Given the description of an element on the screen output the (x, y) to click on. 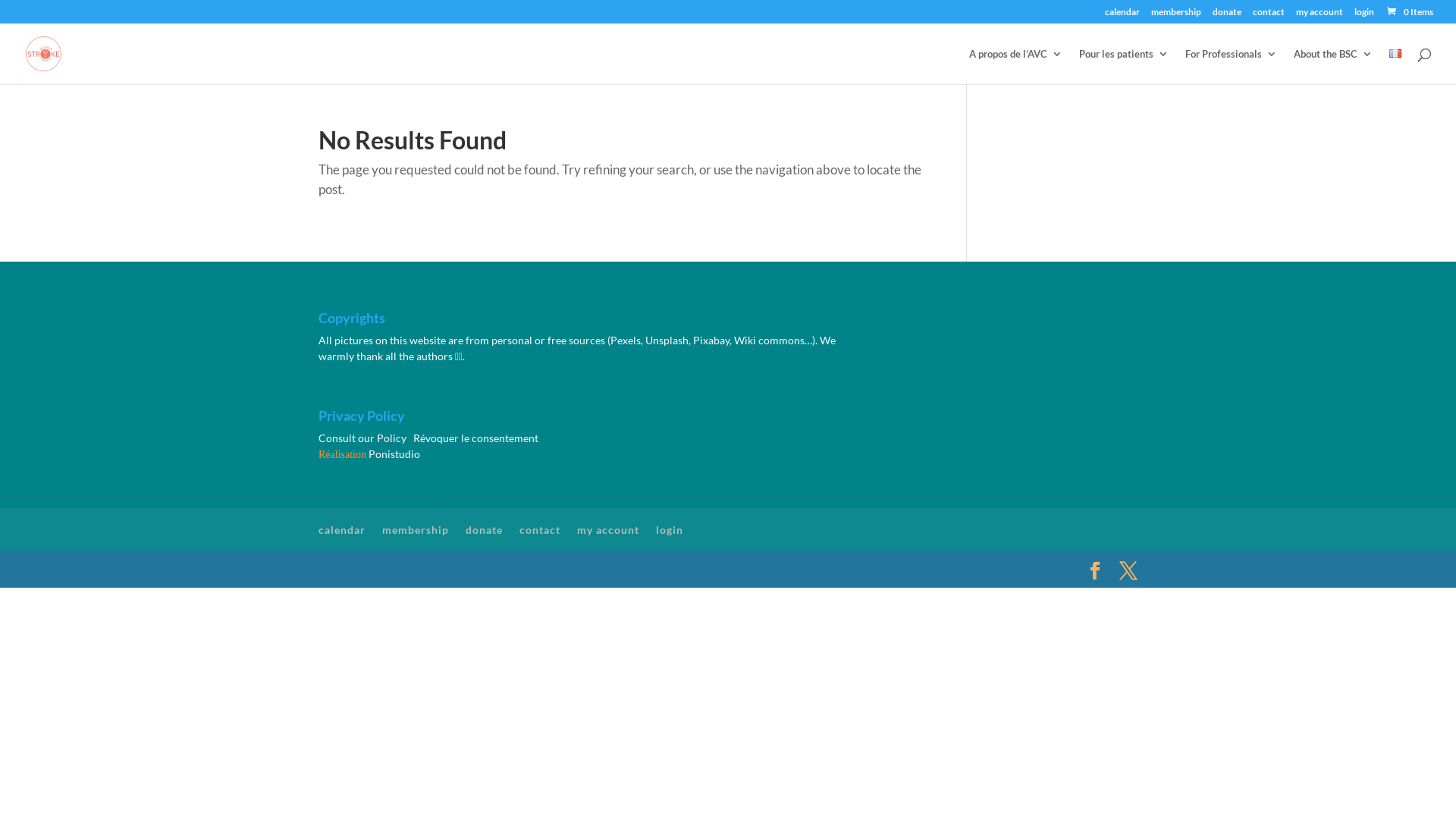
Consult our Policy Element type: text (362, 437)
contact Element type: text (539, 529)
my account Element type: text (608, 529)
donate Element type: text (483, 529)
login Element type: text (1364, 15)
Pour les patients Element type: text (1123, 66)
membership Element type: text (415, 529)
calendar Element type: text (1121, 15)
contact Element type: text (1268, 15)
donate Element type: text (1226, 15)
0 Items Element type: text (1409, 11)
membership Element type: text (1176, 15)
About the BSC Element type: text (1332, 66)
calendar Element type: text (341, 529)
login Element type: text (669, 529)
For Professionals Element type: text (1231, 66)
my account Element type: text (1319, 15)
Ponistudio Element type: text (394, 453)
